Given the description of an element on the screen output the (x, y) to click on. 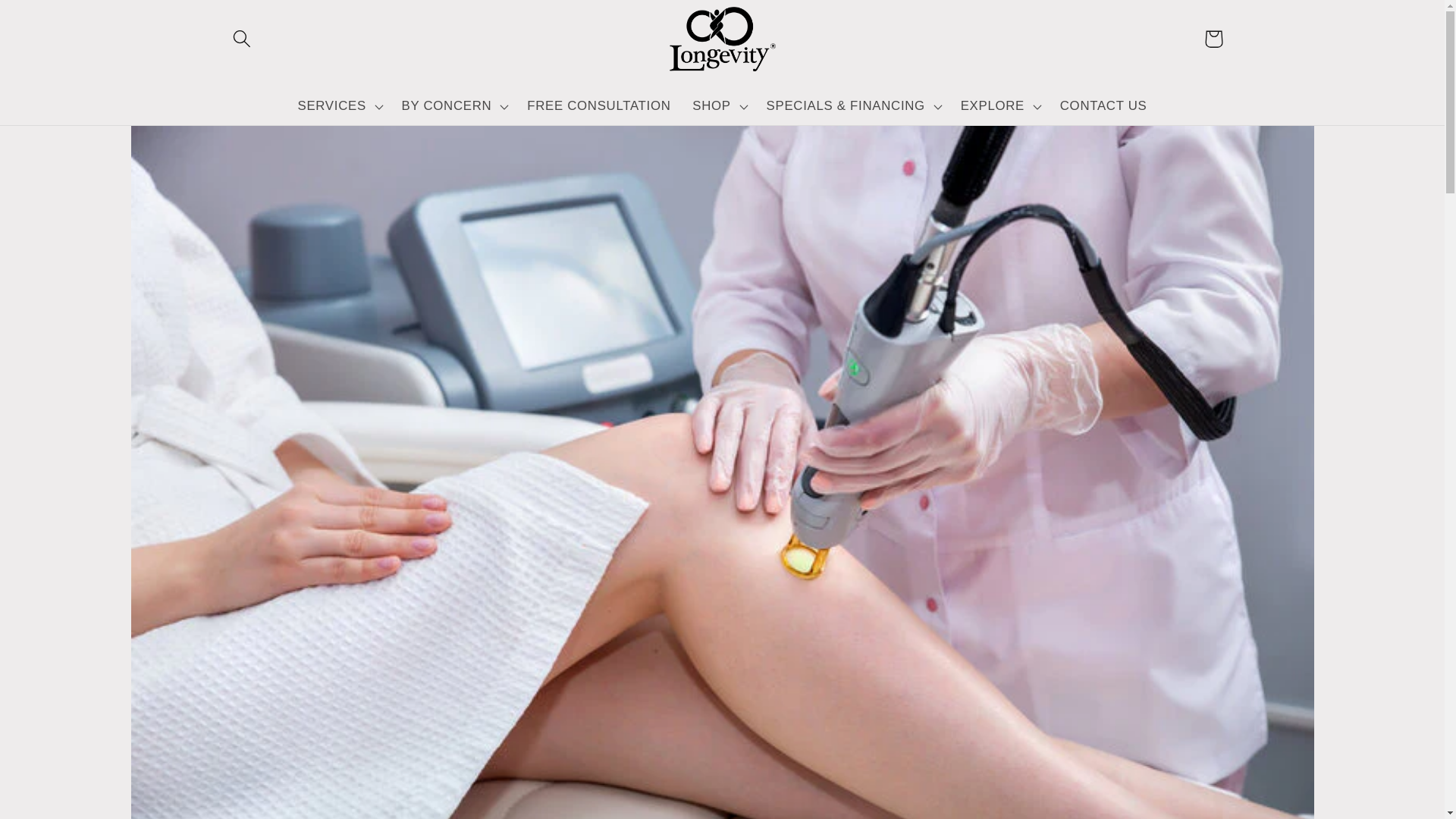
Skip to content (55, 20)
